Given the description of an element on the screen output the (x, y) to click on. 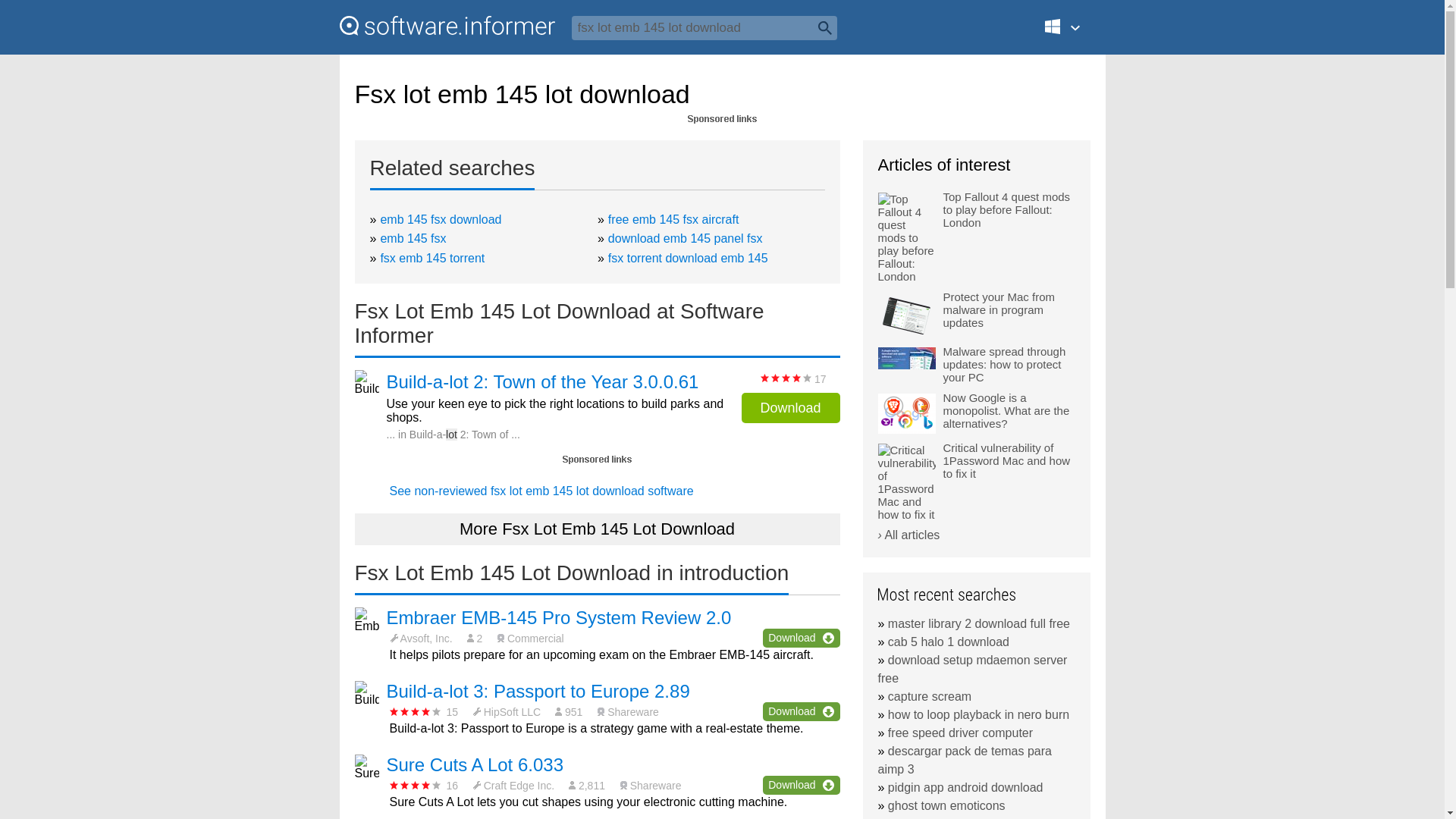
fsx torrent download emb 145 (688, 257)
4.1 (415, 785)
Build-a-lot 2: Town of the Year 3.0.0.61 (542, 381)
17 votes (785, 377)
3.6 (415, 711)
Download (790, 408)
Build-a-lot 2: Town of the Year 3.0.0.61 (542, 381)
free emb 145 fsx aircraft (673, 219)
emb 145 fsx download (440, 219)
